Given the description of an element on the screen output the (x, y) to click on. 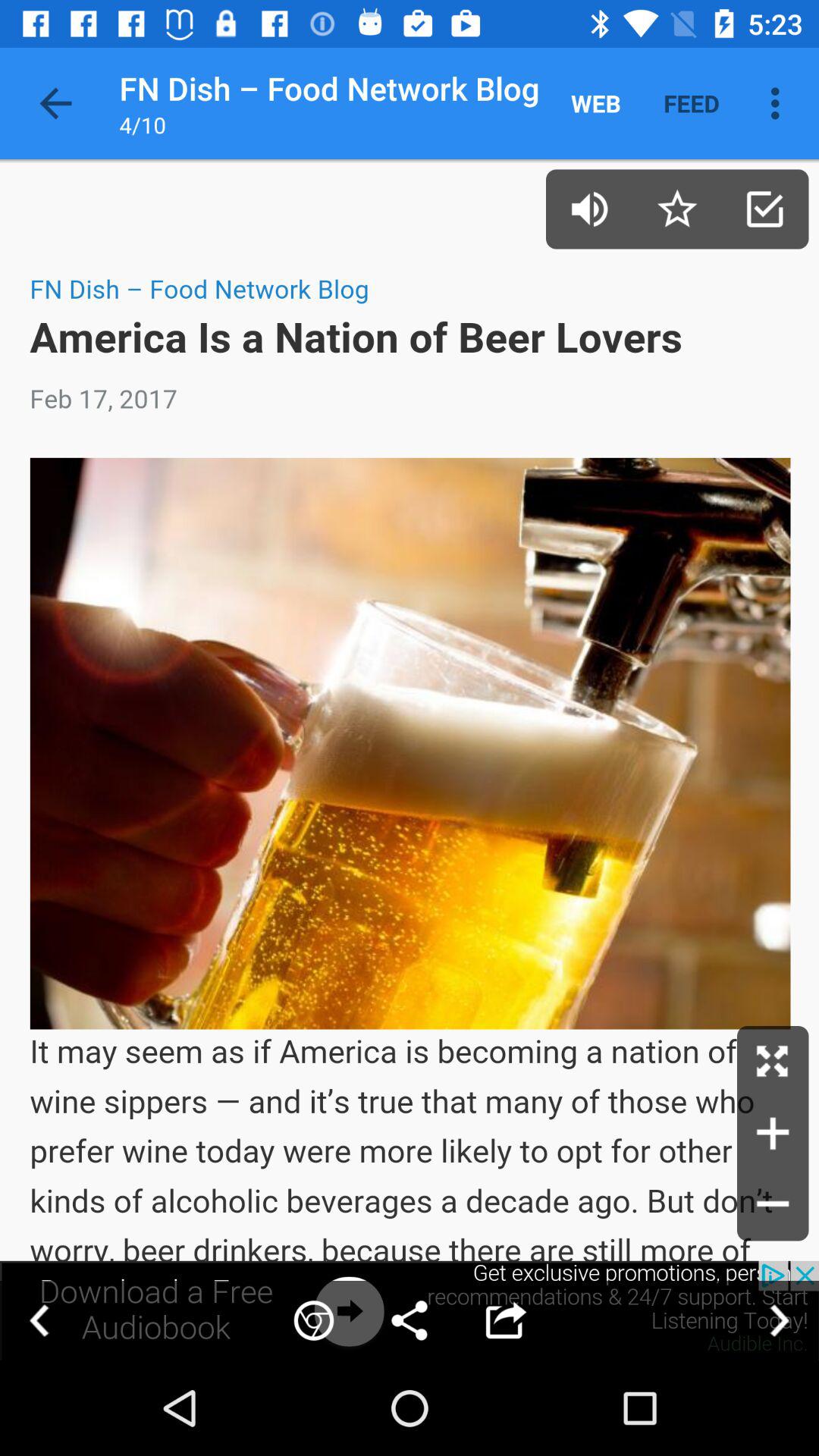
go to advertisement (772, 1133)
